Given the description of an element on the screen output the (x, y) to click on. 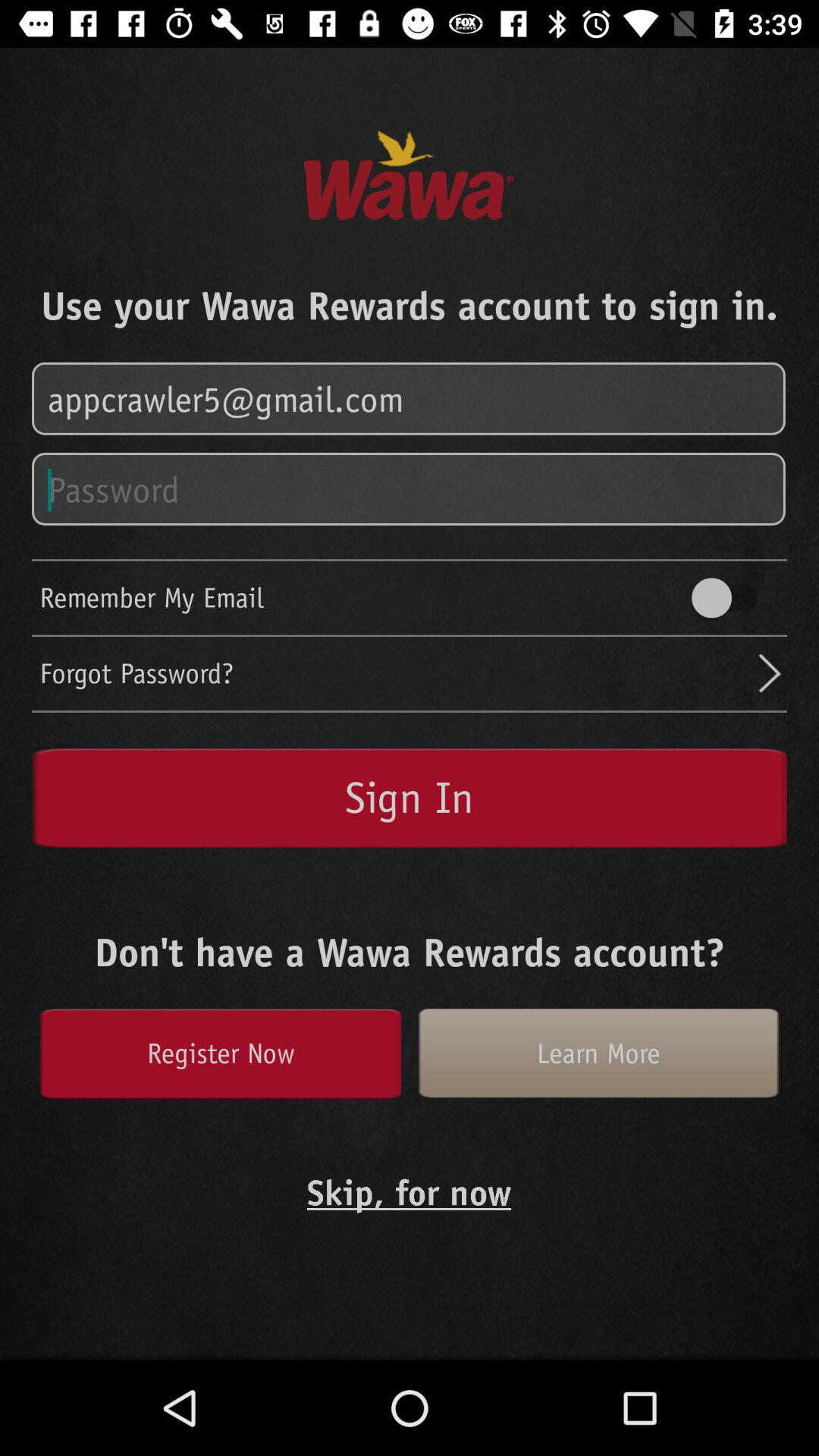
open the item next to the remember my email item (731, 598)
